Given the description of an element on the screen output the (x, y) to click on. 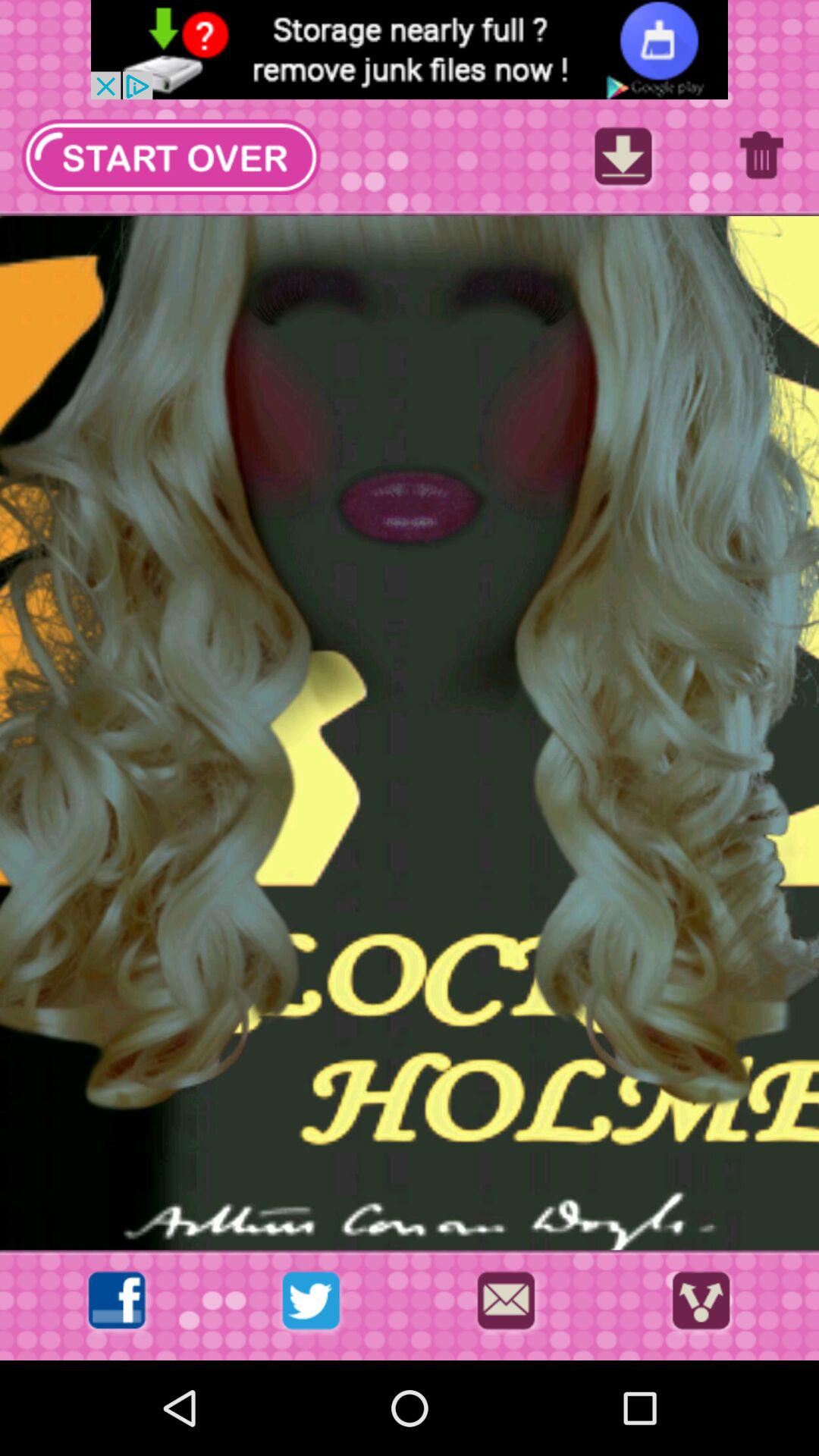
download photo (622, 160)
